Given the description of an element on the screen output the (x, y) to click on. 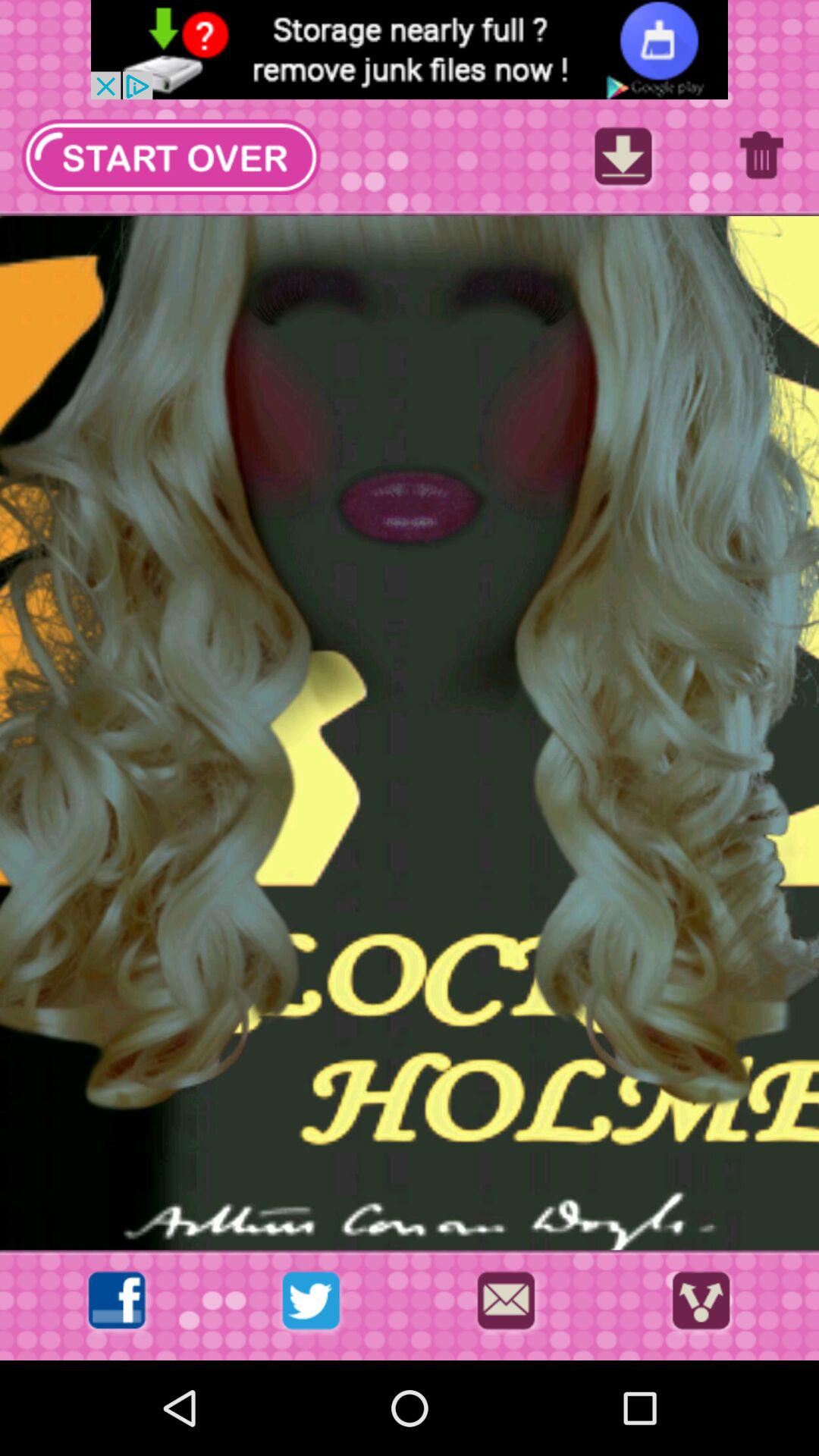
download photo (622, 160)
